Given the description of an element on the screen output the (x, y) to click on. 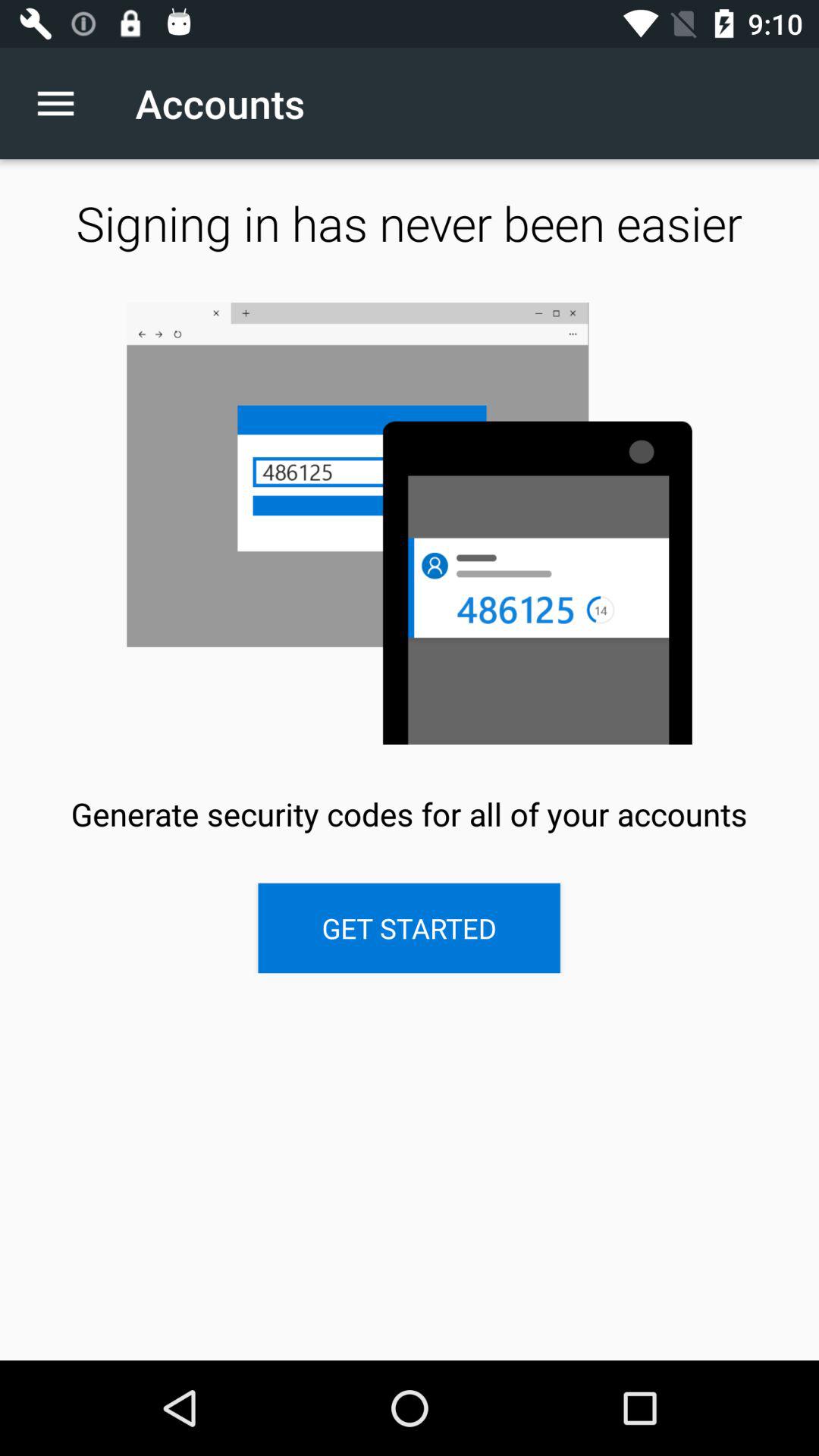
turn off app to the left of the accounts item (63, 103)
